Given the description of an element on the screen output the (x, y) to click on. 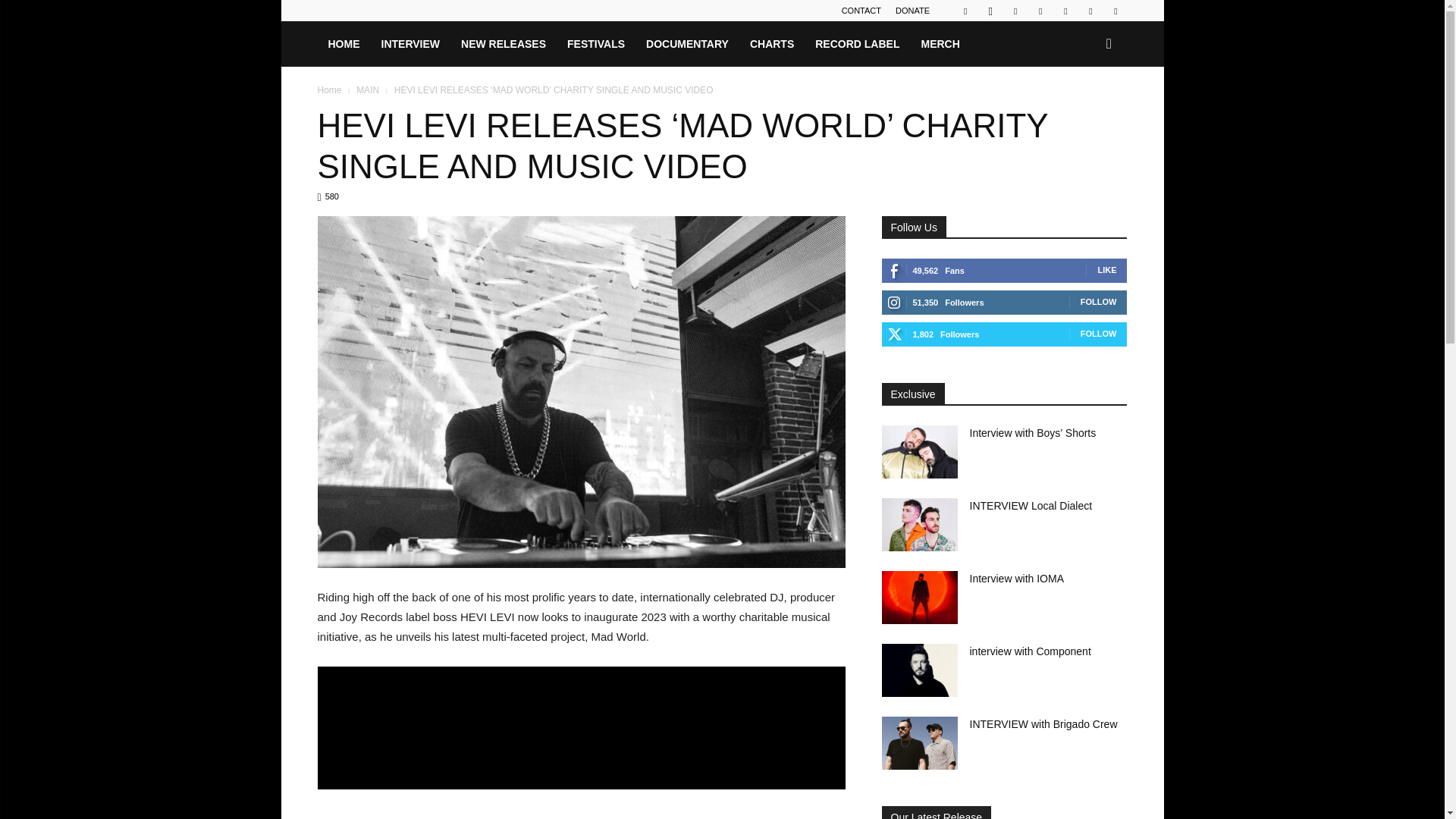
Soundcloud (1065, 10)
Youtube (1114, 10)
CONTACT (860, 10)
Mail (1015, 10)
INTERVIEW (409, 43)
DONATE (912, 10)
Paypal (1040, 10)
Facebook (964, 10)
RECORD LABEL (857, 43)
DOCUMENTARY (686, 43)
